Given the description of an element on the screen output the (x, y) to click on. 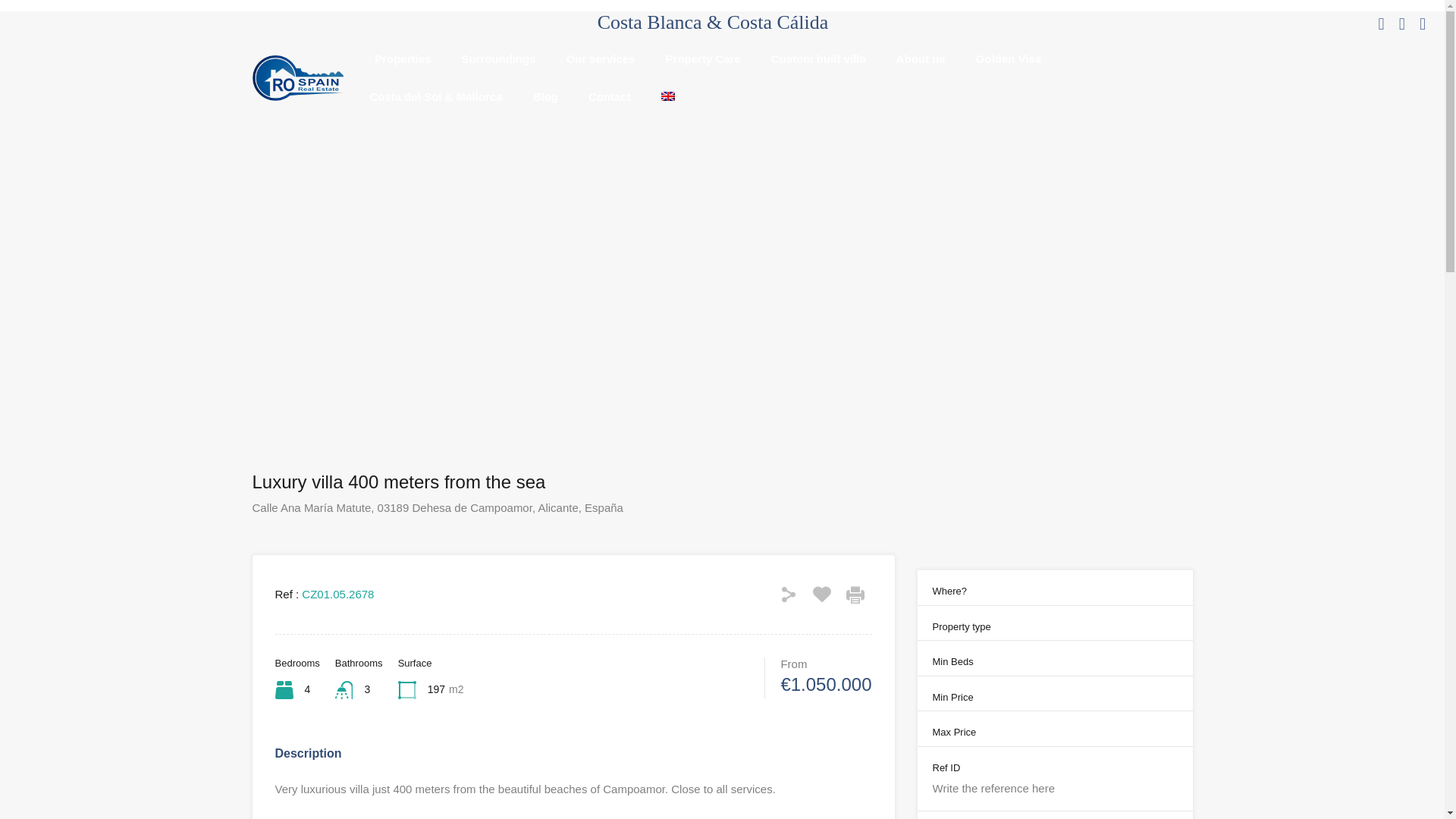
Custom built villa (818, 58)
Properties (399, 58)
Blog (544, 96)
About us (920, 58)
Property Care (703, 58)
RO-SPAIN (296, 92)
Our services (600, 58)
Contact (609, 96)
Golden Visa (1008, 58)
Surroundings (498, 58)
